Given the description of an element on the screen output the (x, y) to click on. 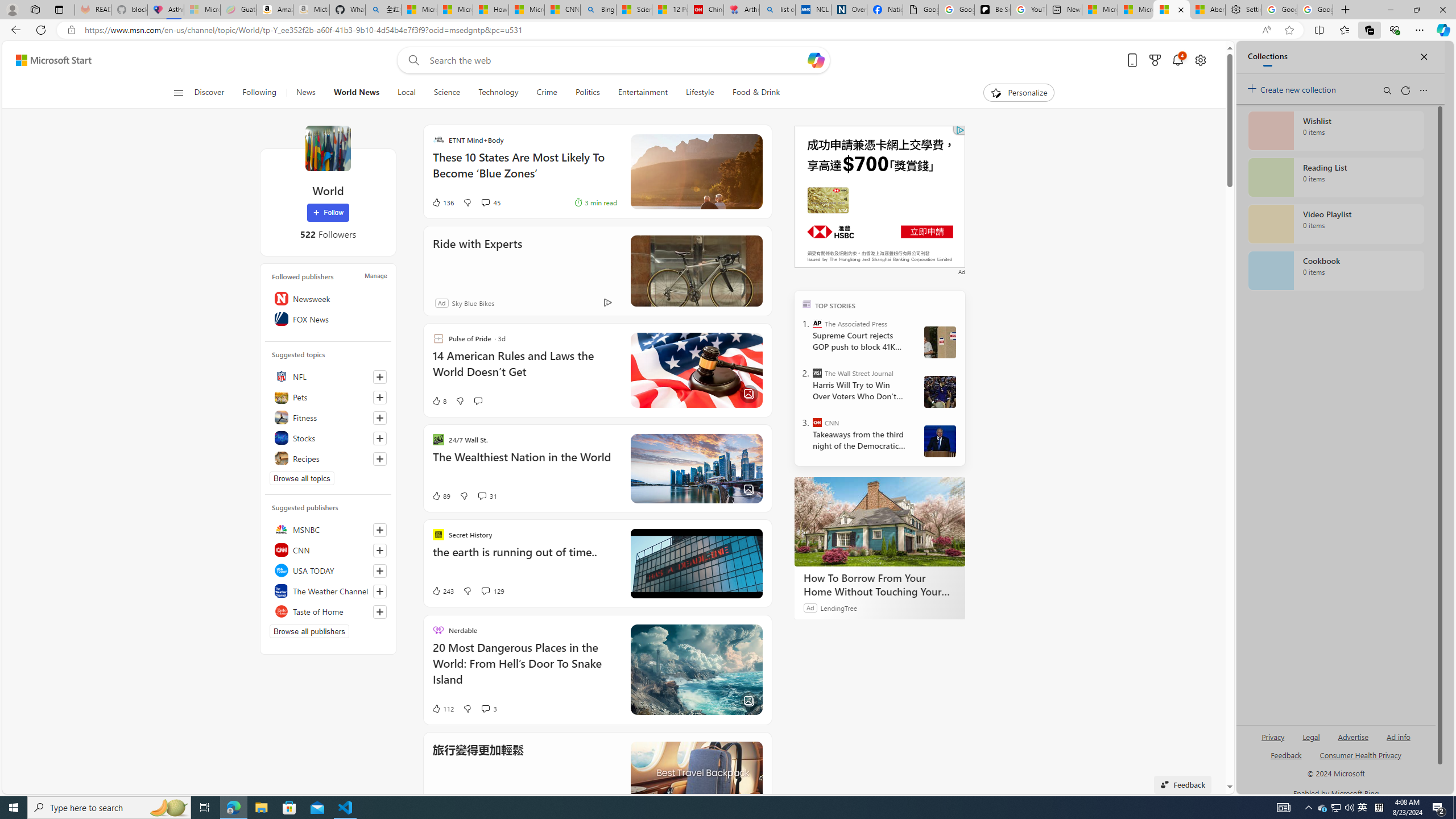
Class: hero-image (696, 563)
The Wealthiest Nation in the World (524, 462)
136 Like (442, 202)
View comments 129 Comment (485, 591)
